Given the description of an element on the screen output the (x, y) to click on. 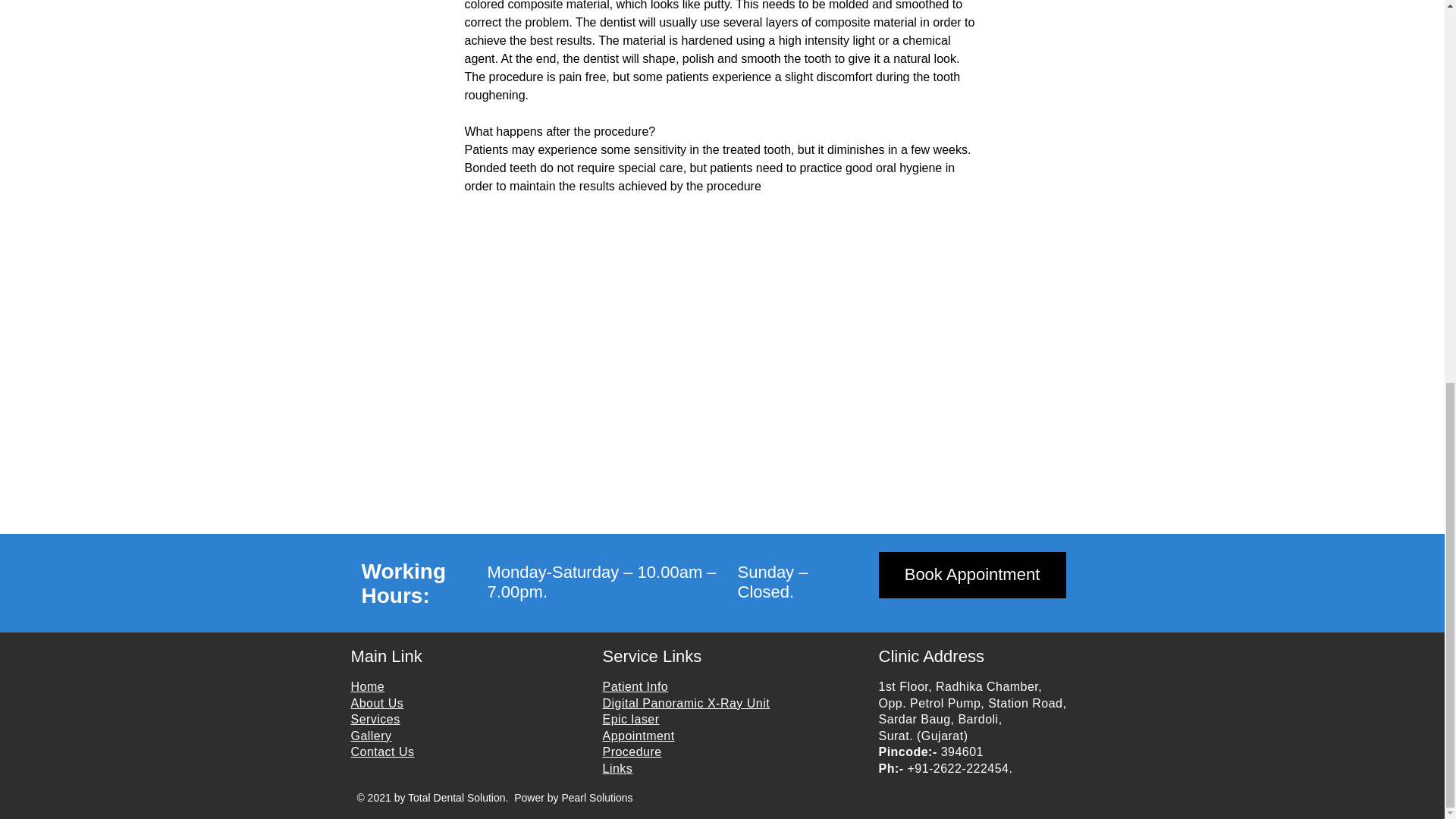
Gallery (370, 735)
Patient Info (635, 686)
Links (616, 768)
About Us (376, 703)
Contact Us (381, 751)
Digital Panoramic X-Ray Unit (686, 703)
Epic laser (630, 718)
Total Dental Solution (456, 797)
Services (374, 718)
Home (367, 686)
Pearl Solutions (595, 797)
Appointment (638, 735)
Book Appointment (971, 575)
Procedure (631, 751)
